Given the description of an element on the screen output the (x, y) to click on. 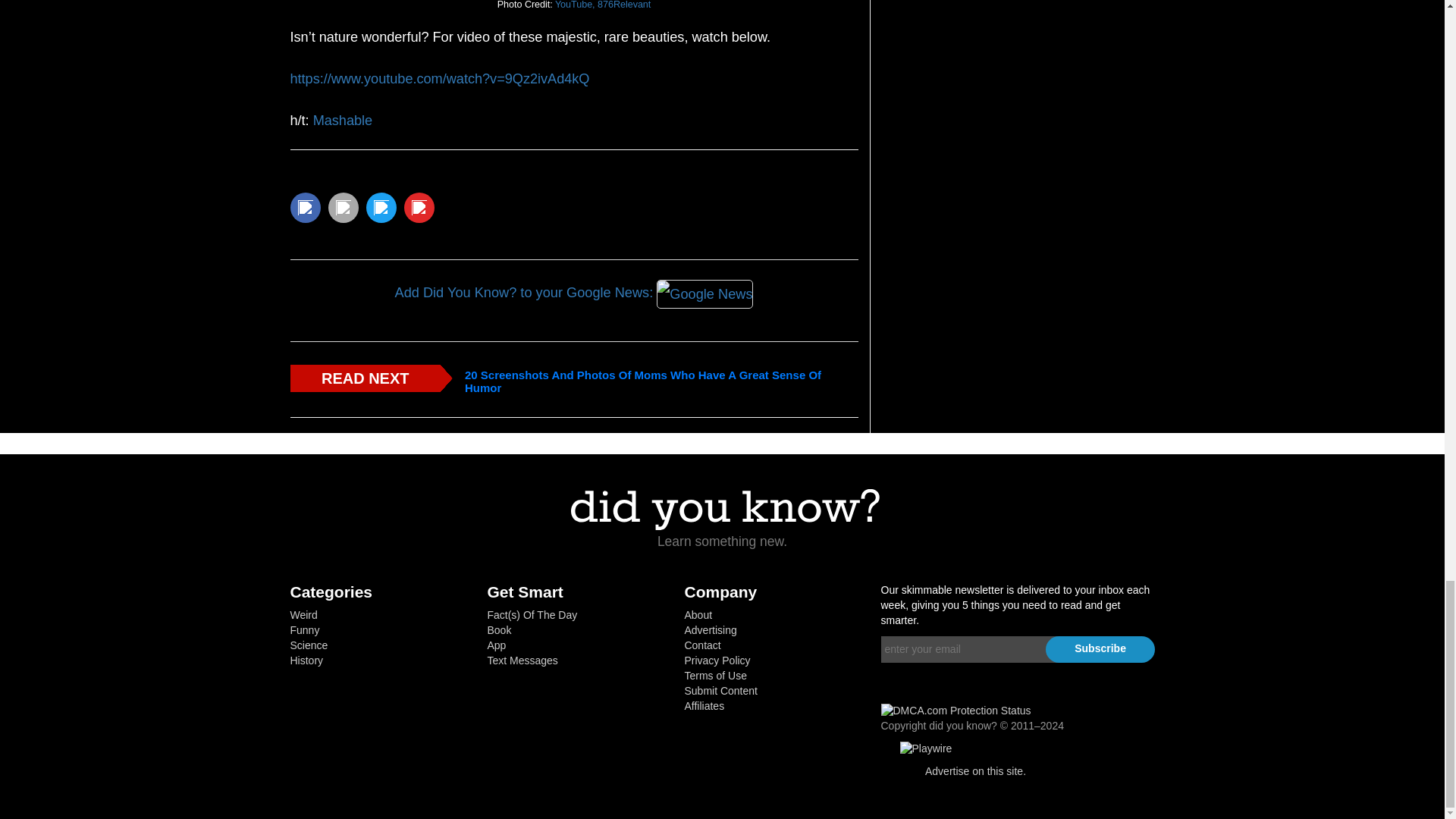
Subscribe (1100, 649)
YouTube, 876Relevant (602, 4)
DMCA.com Protection Status (955, 710)
READ NEXT (364, 378)
Mashable (342, 120)
Google News (704, 294)
Add Did You Know? to your Google News: (573, 293)
